Given the description of an element on the screen output the (x, y) to click on. 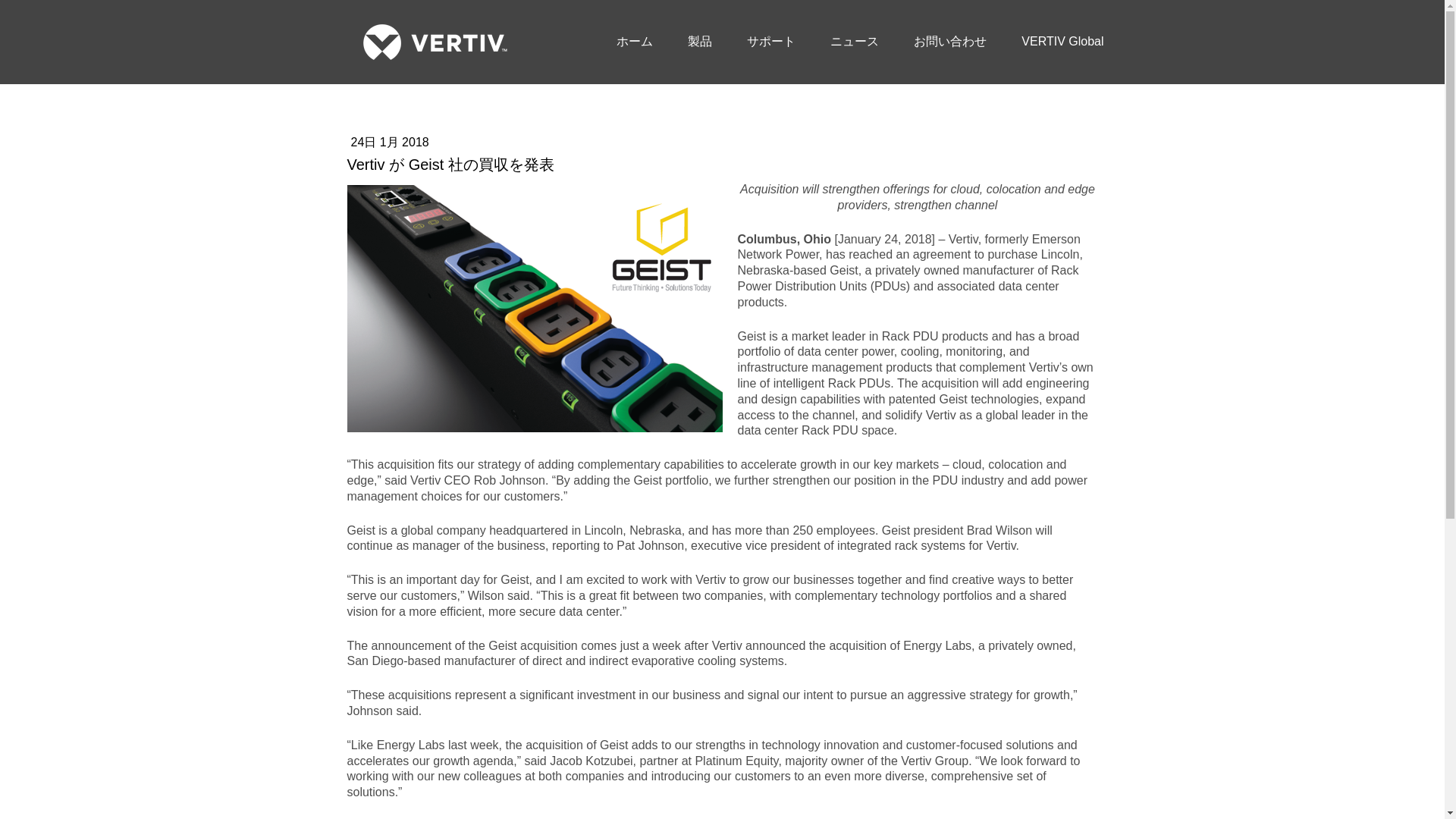
VERTIV Global (1061, 41)
